Given the description of an element on the screen output the (x, y) to click on. 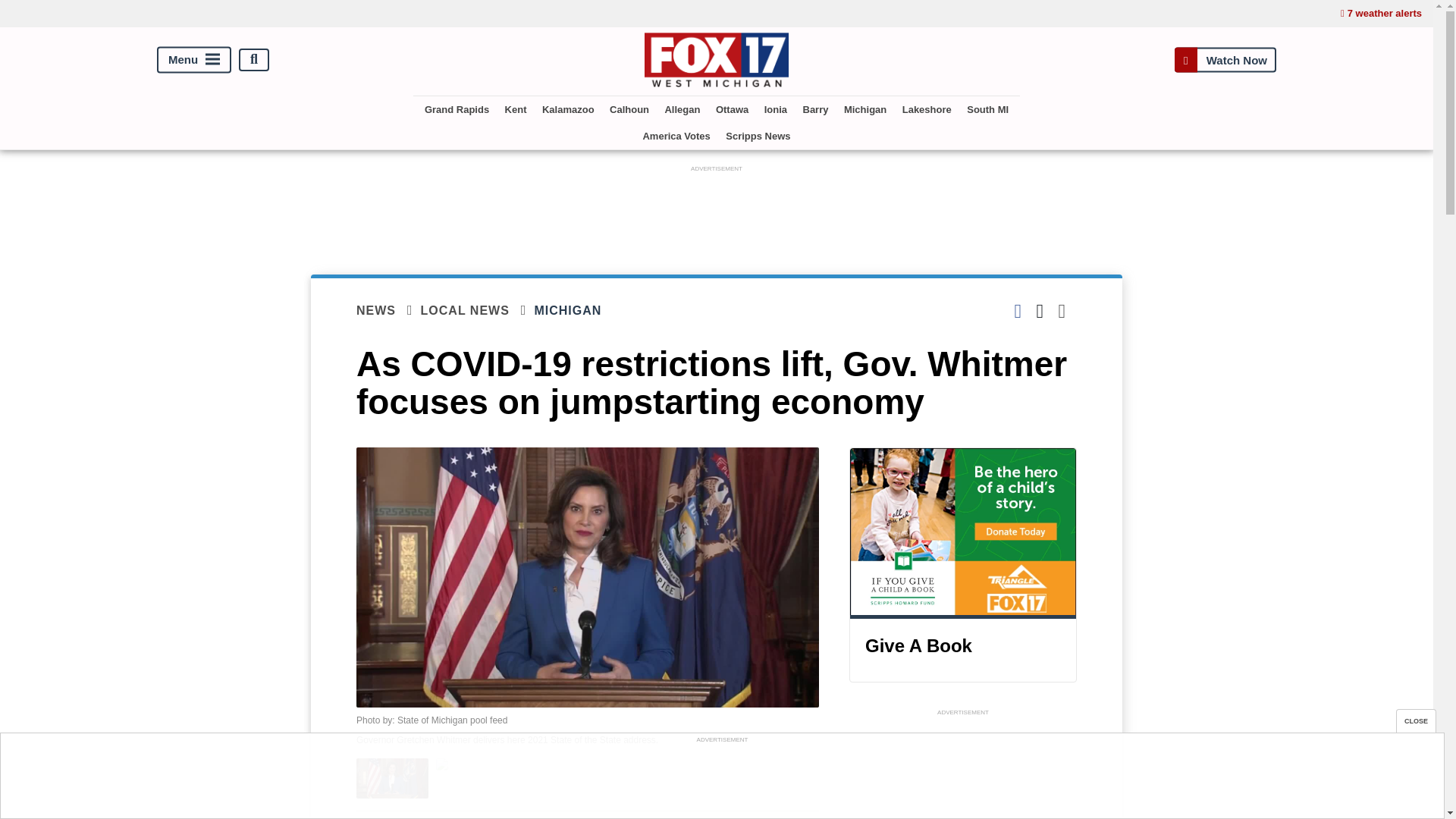
3rd party ad content (962, 769)
3rd party ad content (716, 210)
Watch Now (1224, 59)
3rd party ad content (721, 780)
Menu (194, 58)
